Given the description of an element on the screen output the (x, y) to click on. 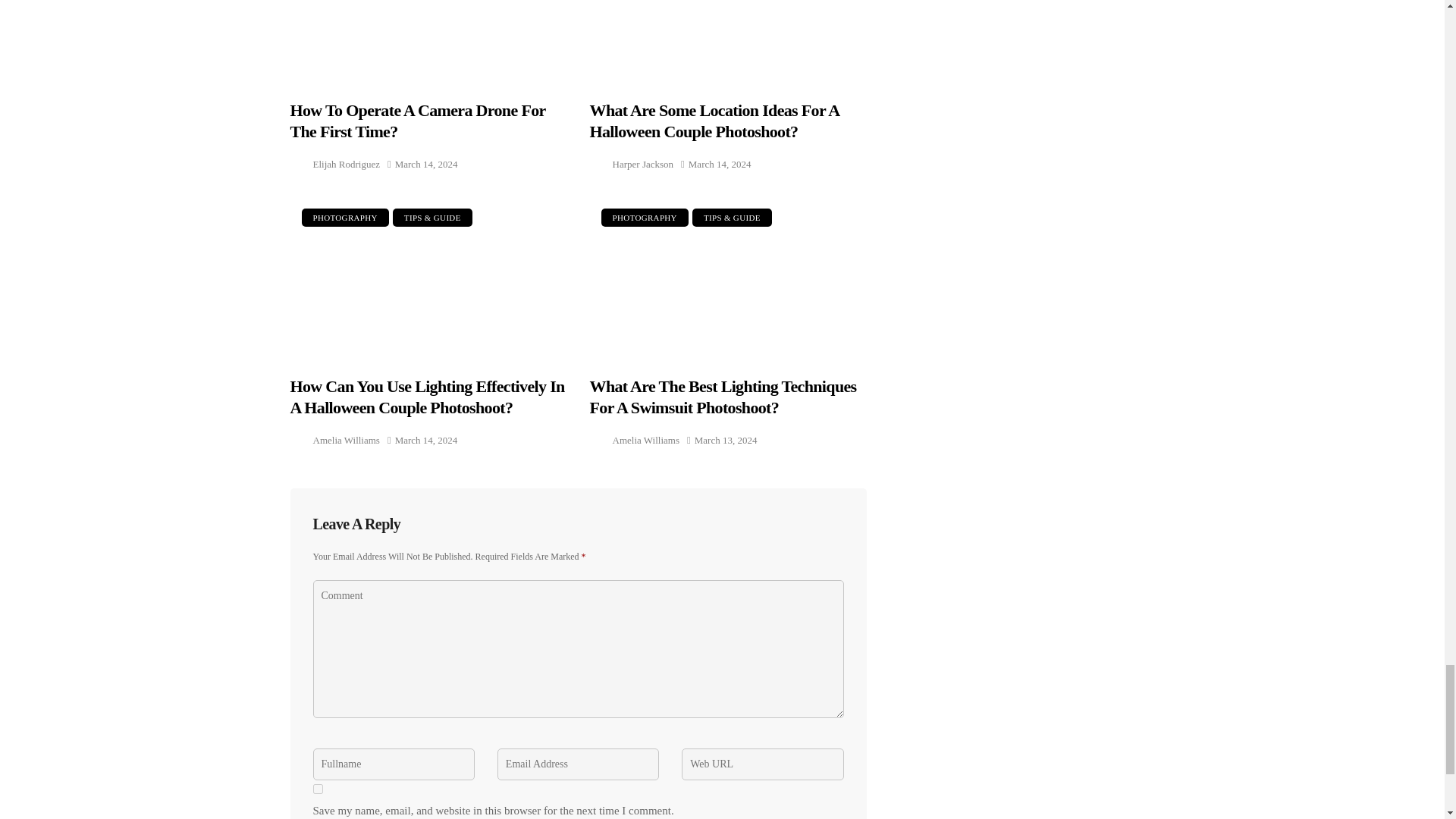
Posts by Harper Jackson (643, 163)
yes (317, 788)
How to Operate a Camera Drone for The First Time? (427, 40)
Posts by Amelia Williams (345, 439)
Posts by Elijah Rodriguez (345, 163)
Posts by Amelia Williams (645, 439)
